Given the description of an element on the screen output the (x, y) to click on. 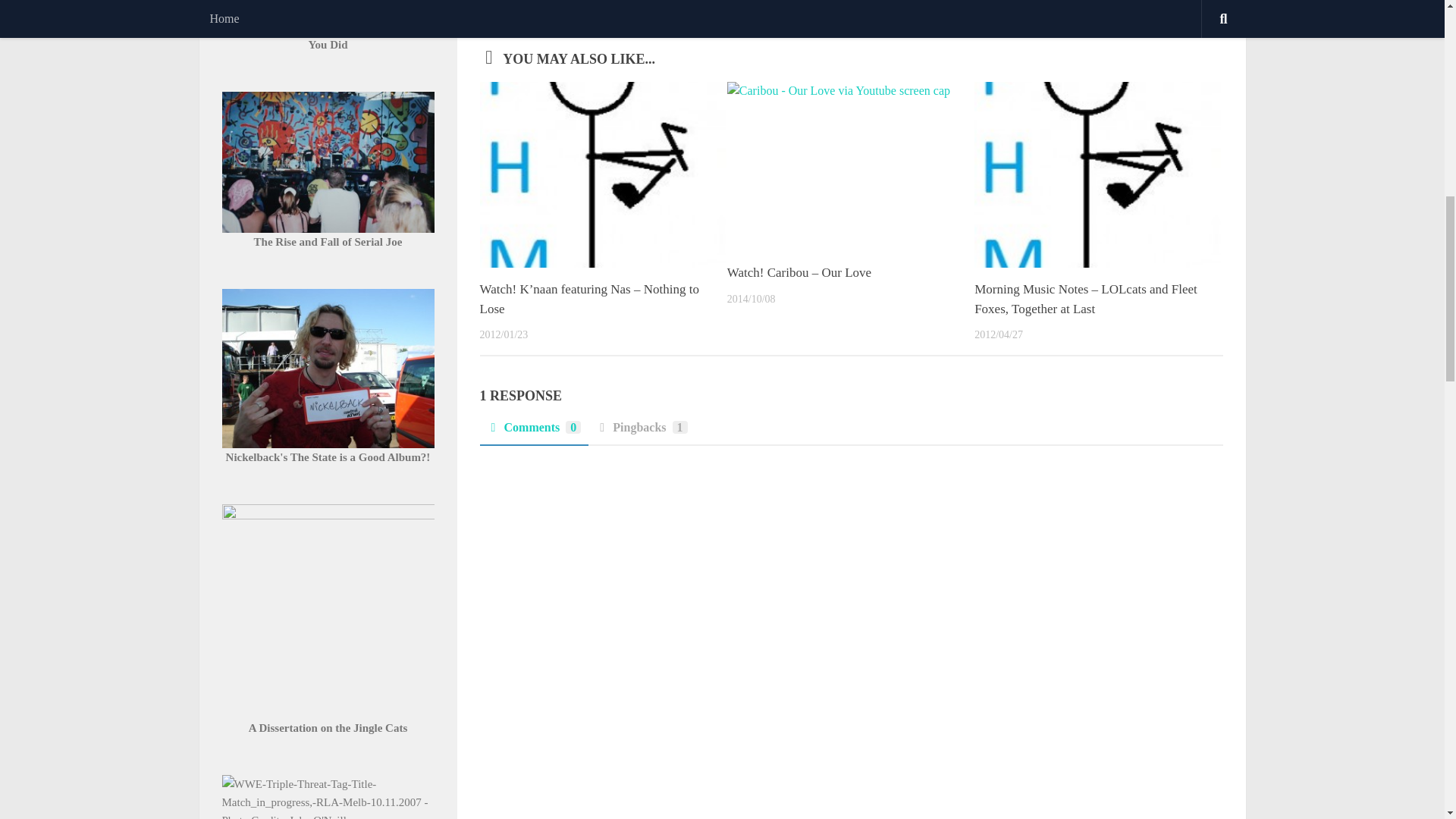
Mick Jagger (539, 8)
Comments0 (533, 431)
How I Heard Radiohead's Amnesiac Before You Did (327, 35)
The Rise and Fall of Serial Joe (328, 241)
Pingbacks1 (641, 431)
The Rolling Stones (610, 8)
